Given the description of an element on the screen output the (x, y) to click on. 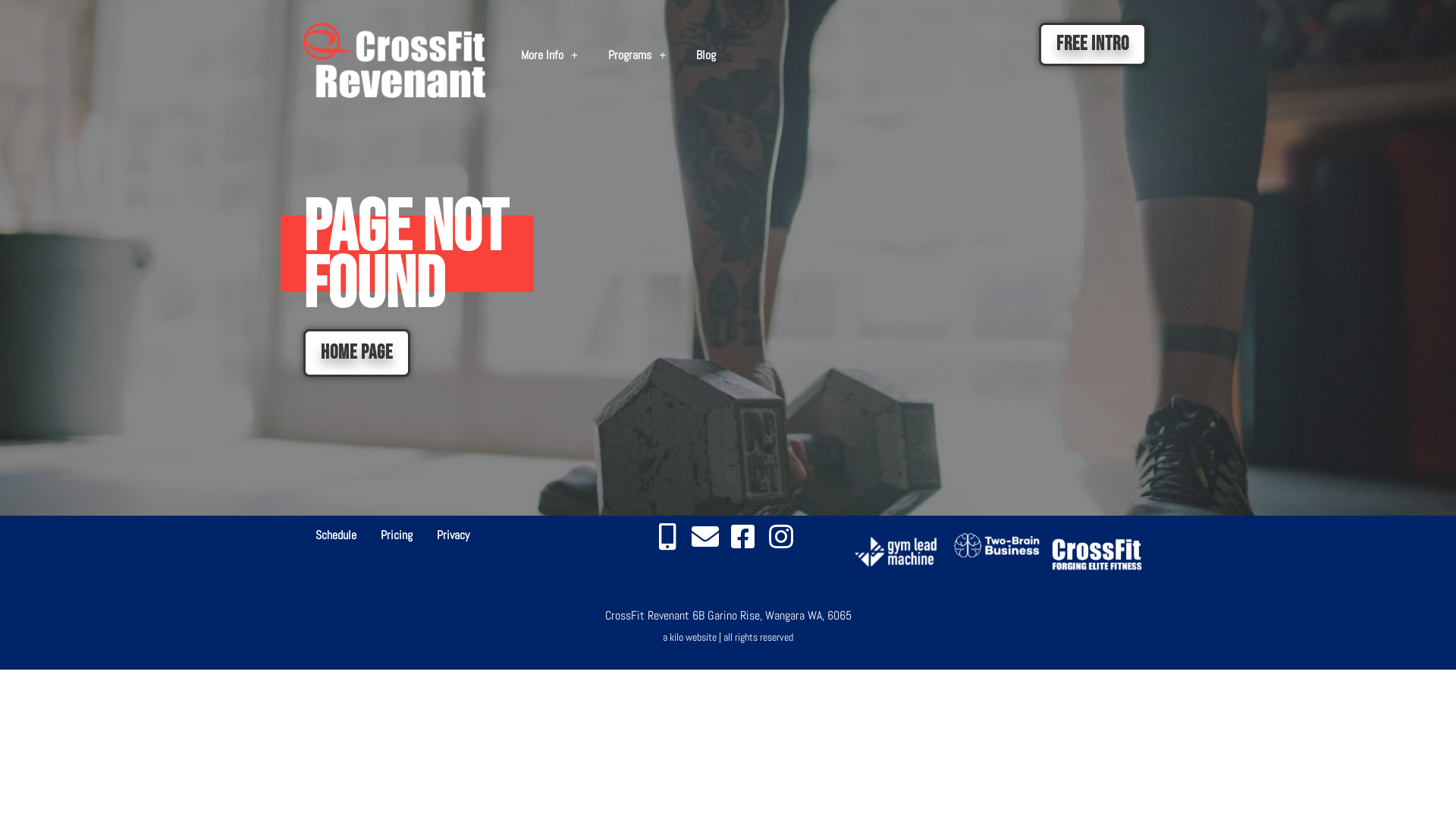
CrossFit Revenant 6B Garino Rise, Wangara WA, 6065 Element type: text (728, 615)
Blog Element type: text (705, 54)
More Info Element type: text (549, 54)
Schedule Element type: text (335, 535)
HOME PAGE Element type: text (356, 352)
Programs Element type: text (636, 54)
FREE INTRO Element type: text (1092, 43)
Privacy Element type: text (452, 535)
Pricing Element type: text (396, 535)
a kilo website Element type: text (689, 636)
